Given the description of an element on the screen output the (x, y) to click on. 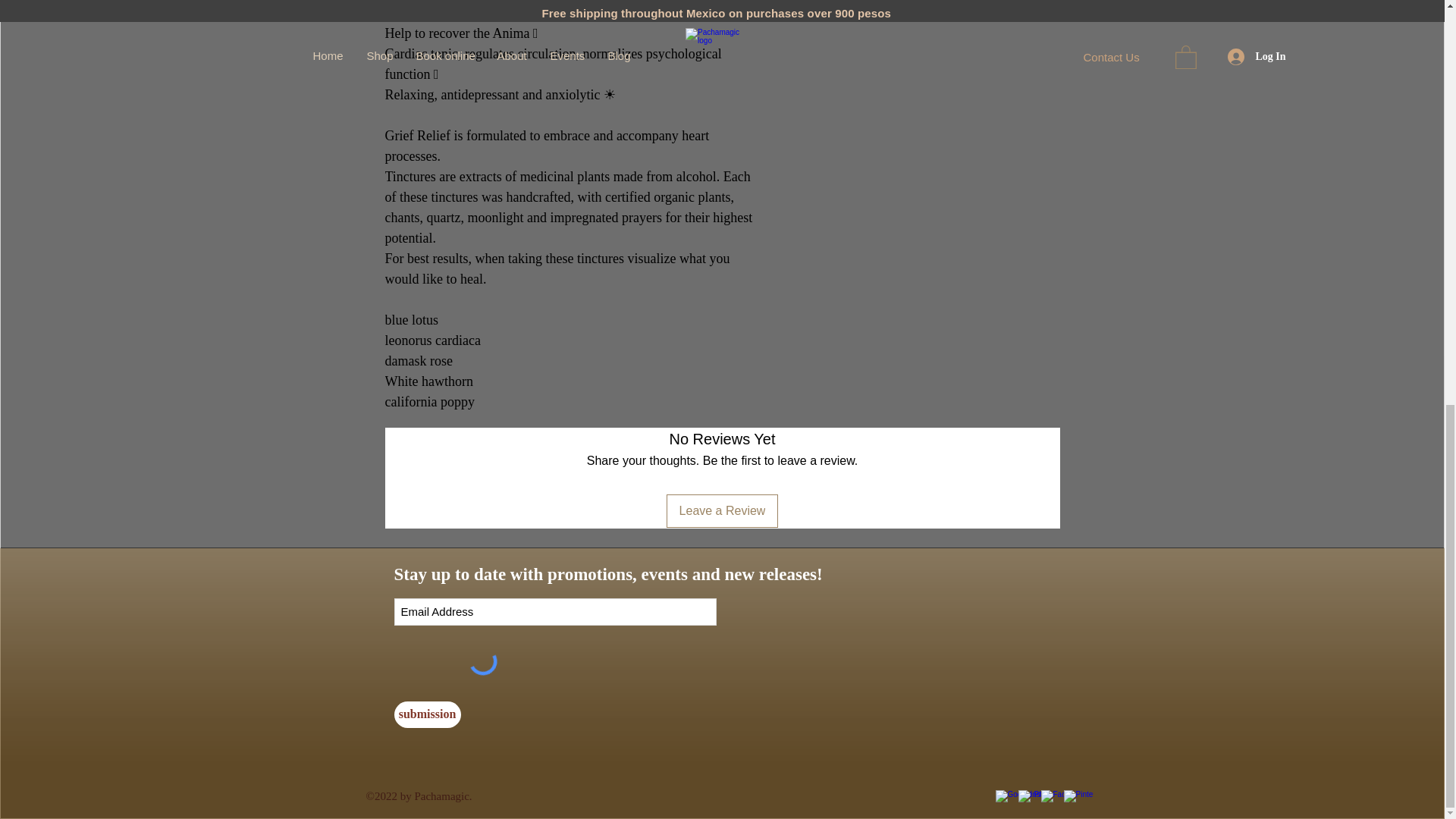
Leave a Review (722, 510)
submission (427, 714)
